Given the description of an element on the screen output the (x, y) to click on. 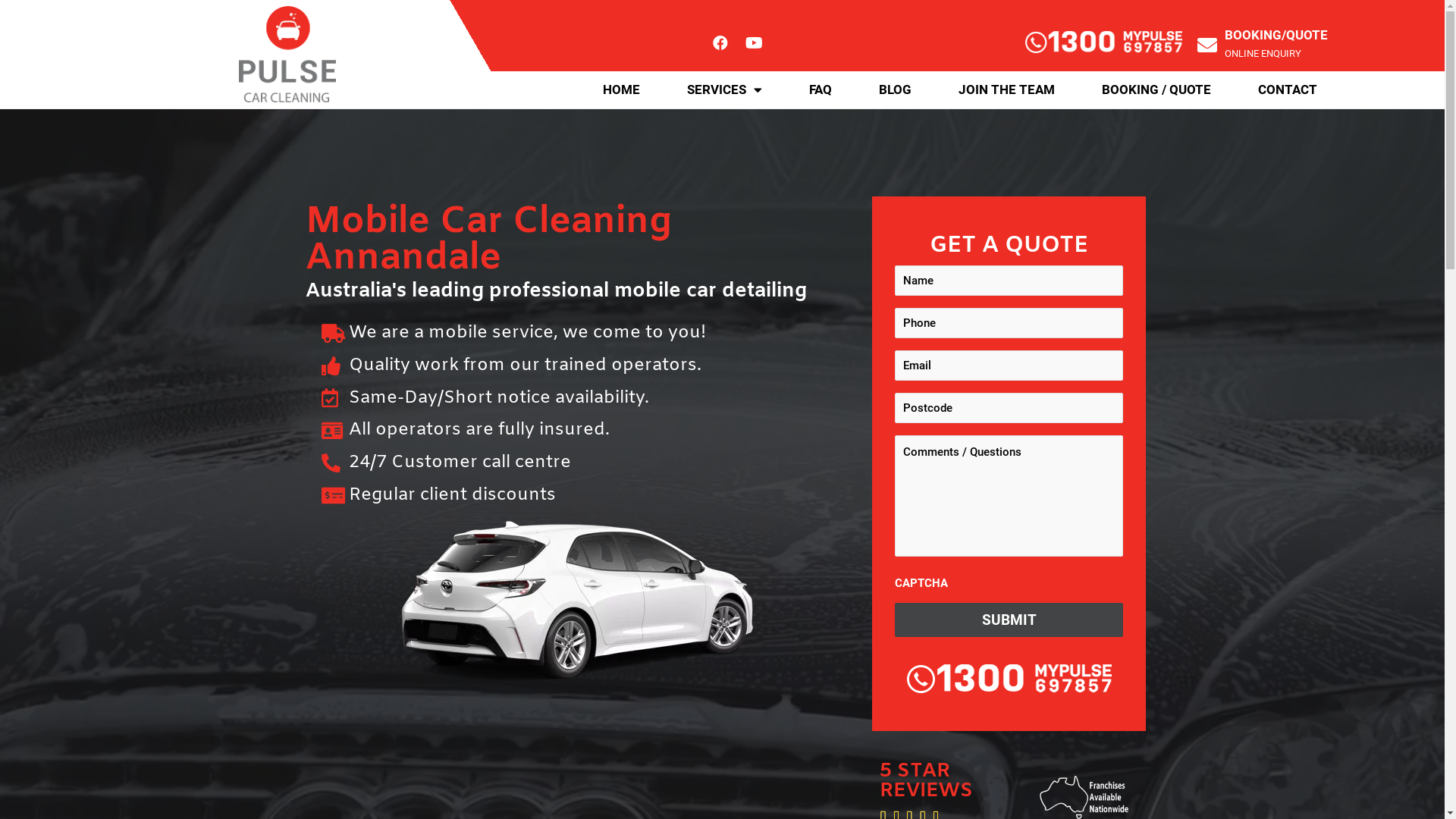
FAQ Element type: text (820, 89)
HOME Element type: text (621, 89)
BOOKING/QUOTE Element type: text (1275, 34)
JOIN THE TEAM Element type: text (1006, 89)
SERVICES Element type: text (724, 89)
Submit Element type: text (1008, 619)
BOOKING / QUOTE Element type: text (1156, 89)
BLOG Element type: text (895, 89)
CONTACT Element type: text (1287, 89)
